Given the description of an element on the screen output the (x, y) to click on. 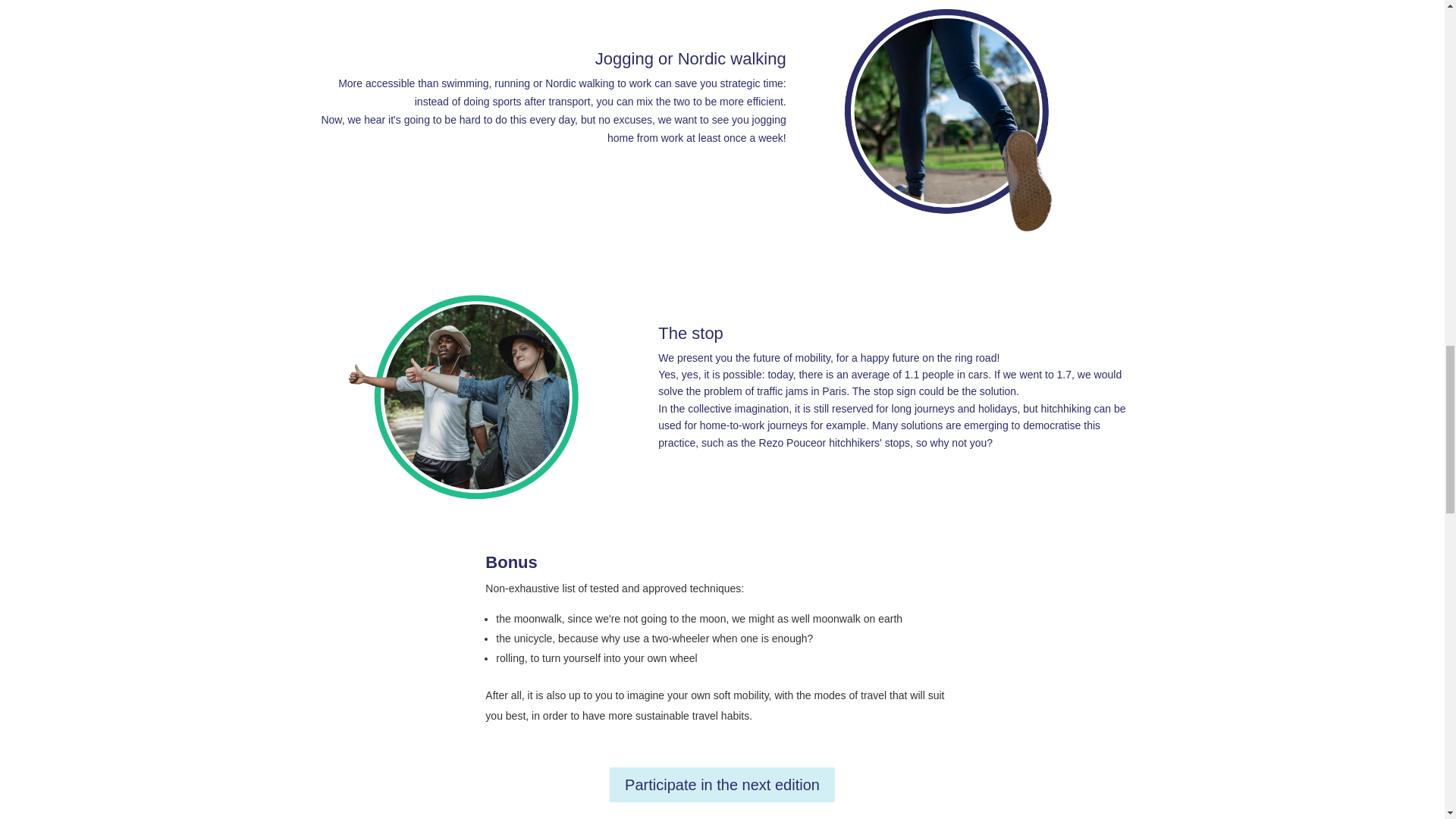
1 (462, 397)
Rezo Pouce (787, 442)
Participate in the next edition (722, 784)
Copy of Portrait BLOG Editor (946, 124)
today, there is an average of 1.1 people in cars (877, 374)
